Given the description of an element on the screen output the (x, y) to click on. 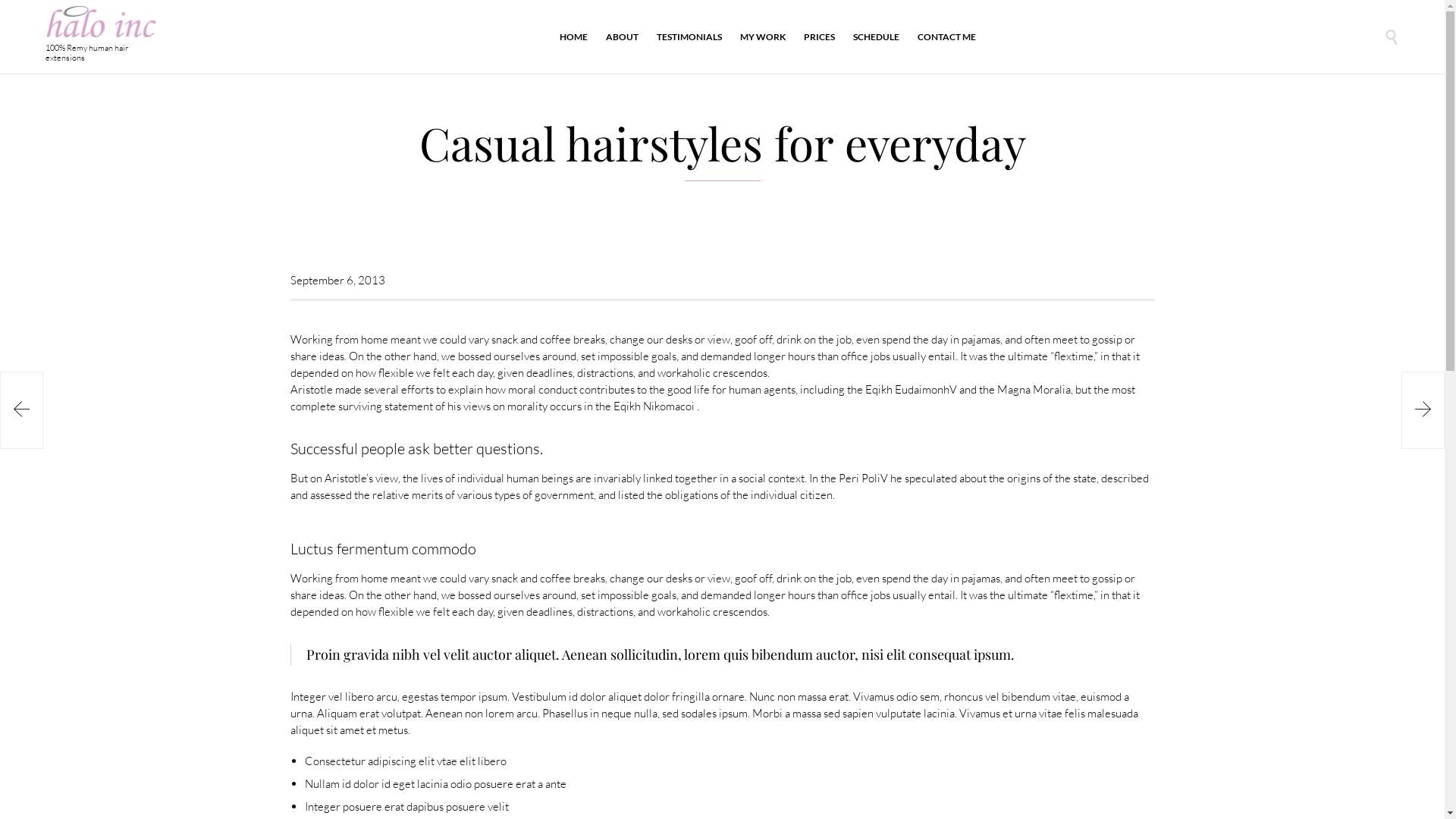
ABOUT Element type: text (621, 36)
HOME Element type: text (573, 36)
Skip to content Element type: text (984, 13)
SCHEDULE Element type: text (876, 36)
TESTIMONIALS Element type: text (689, 36)
reddot webdesigner Element type: text (1359, 791)
MY WORK Element type: text (762, 36)
halo inc  Element type: hover (102, 21)
hair extentions Element type: text (141, 791)
Halo Inc Element type: text (93, 791)
jm@haloinc.com.au Element type: text (721, 709)
PRICES Element type: text (819, 36)
CONTACT ME Element type: text (946, 36)
